Given the description of an element on the screen output the (x, y) to click on. 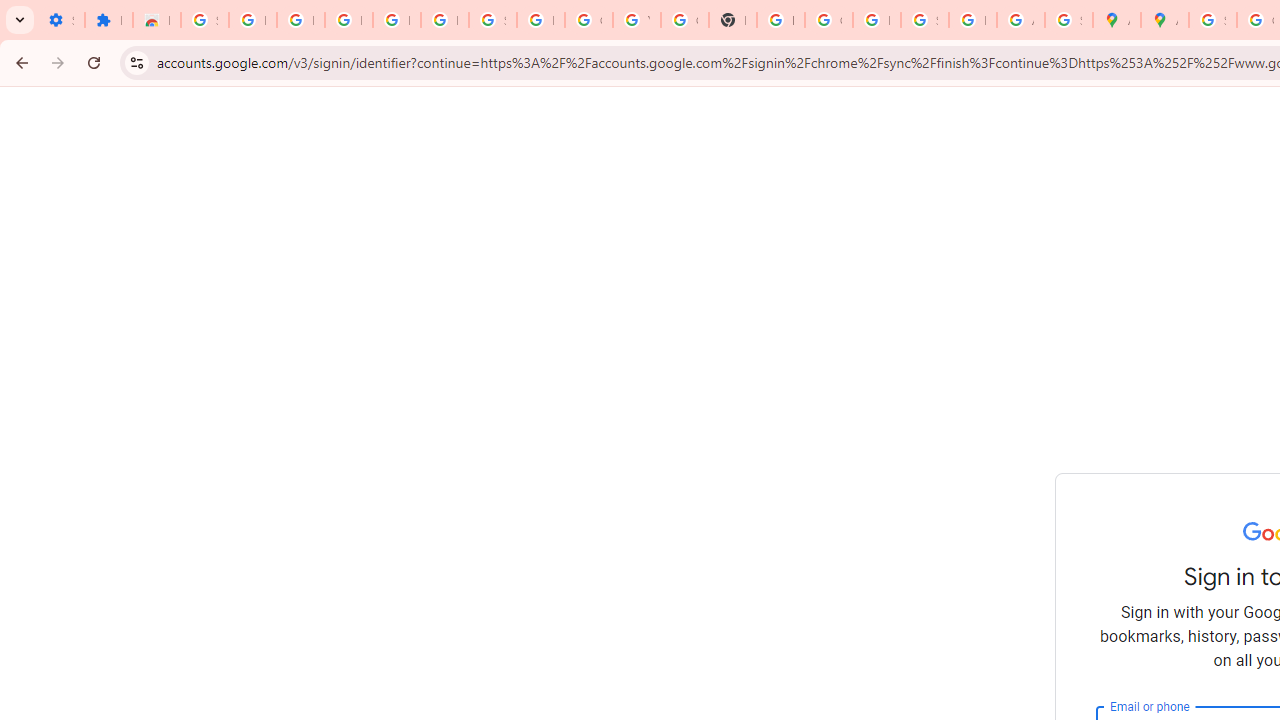
Reviews: Helix Fruit Jump Arcade Game (156, 20)
Learn how to find your photos - Google Photos Help (396, 20)
Settings - On startup (60, 20)
New Tab (732, 20)
